Given the description of an element on the screen output the (x, y) to click on. 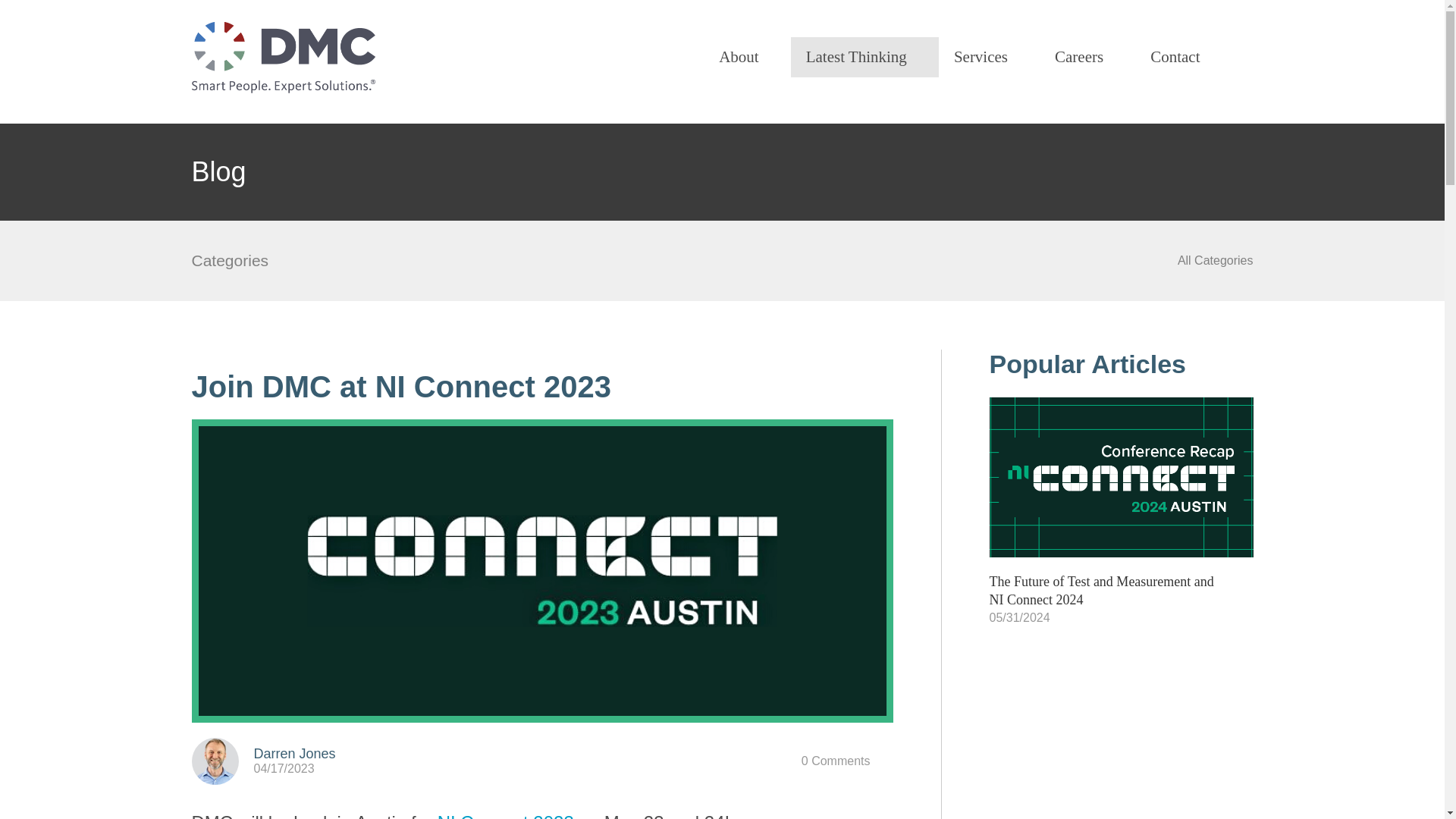
Latest Thinking (864, 56)
Careers (1087, 56)
Contact (1173, 56)
All Categories (1215, 259)
Services (989, 56)
About (746, 56)
